Given the description of an element on the screen output the (x, y) to click on. 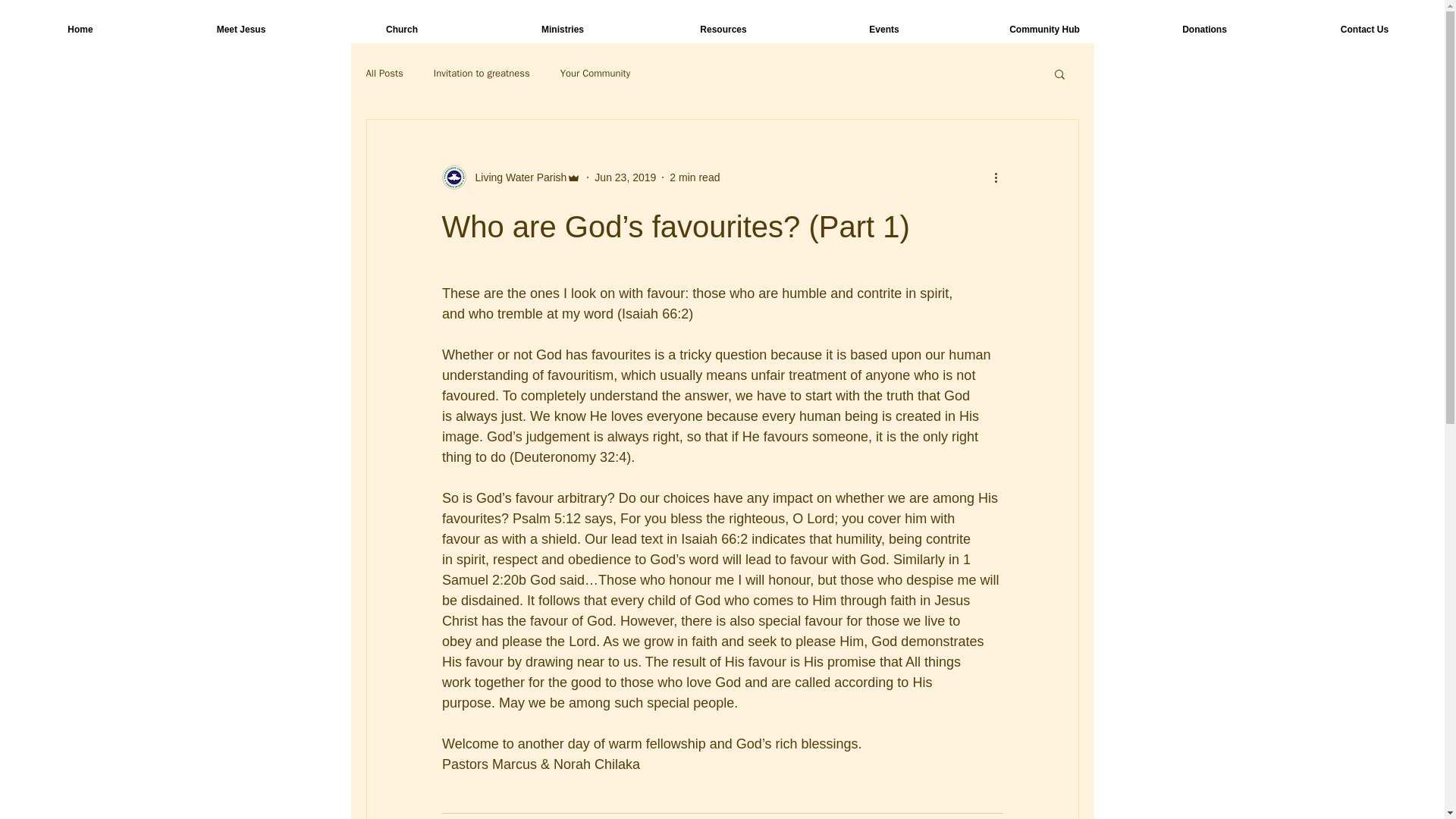
All Posts (384, 73)
Community Hub (1043, 29)
Meet Jesus (240, 29)
Living Water Parish (515, 177)
Donations (1204, 29)
2 min read (694, 177)
Living Water Parish (510, 177)
Events (883, 29)
Home (80, 29)
Jun 23, 2019 (625, 177)
